Given the description of an element on the screen output the (x, y) to click on. 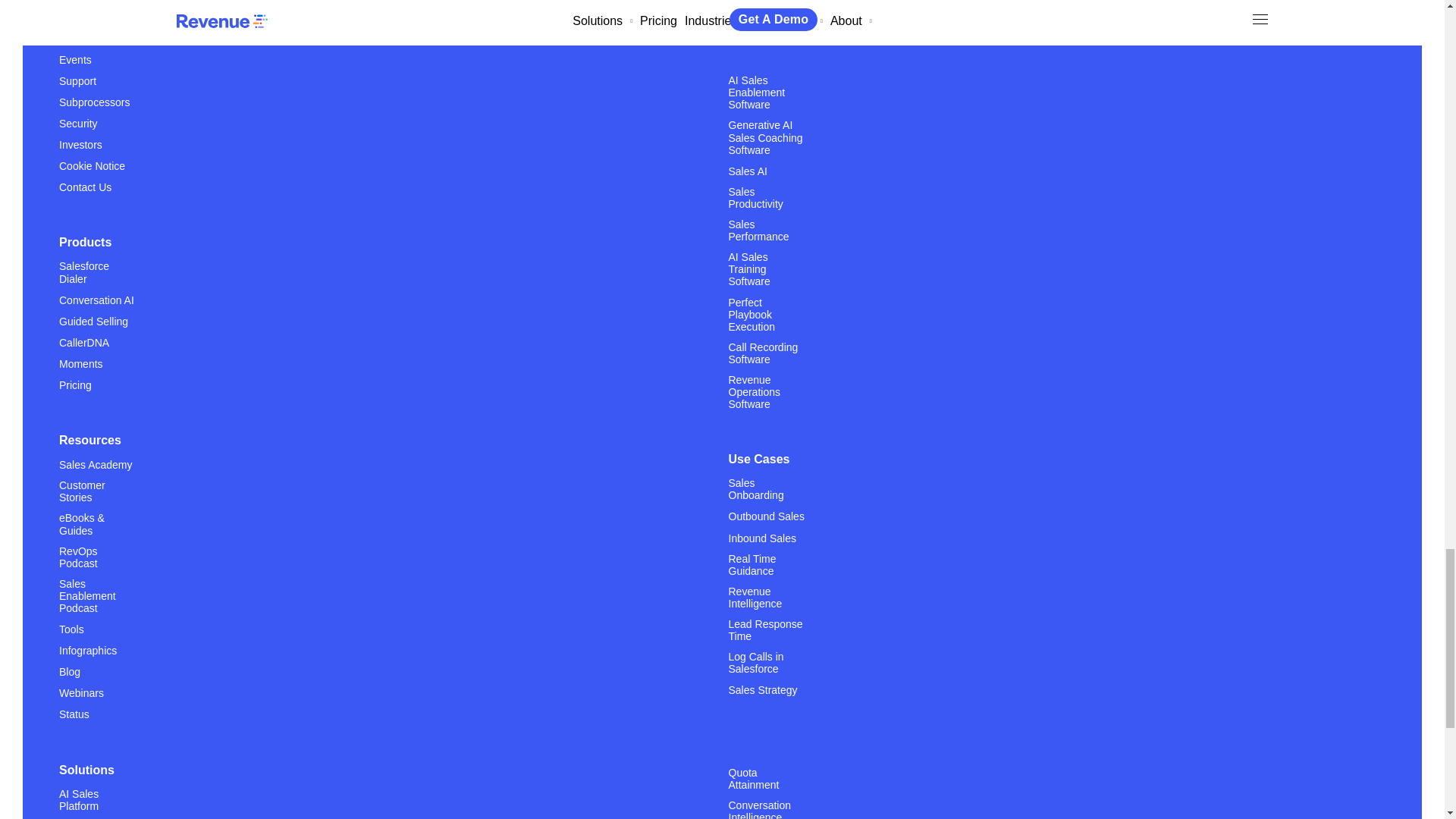
Conversation AI (96, 299)
Leadership (85, 16)
Salesforce Dialer (97, 278)
Partnerships (89, 1)
Moments (81, 363)
Guided Selling (93, 320)
Events (75, 59)
Contact Us (85, 186)
News (72, 38)
CallerDNA (84, 341)
Cookie Notice (92, 164)
Subprocessors (94, 101)
Support (77, 80)
Investors (80, 144)
Security (78, 123)
